Given the description of an element on the screen output the (x, y) to click on. 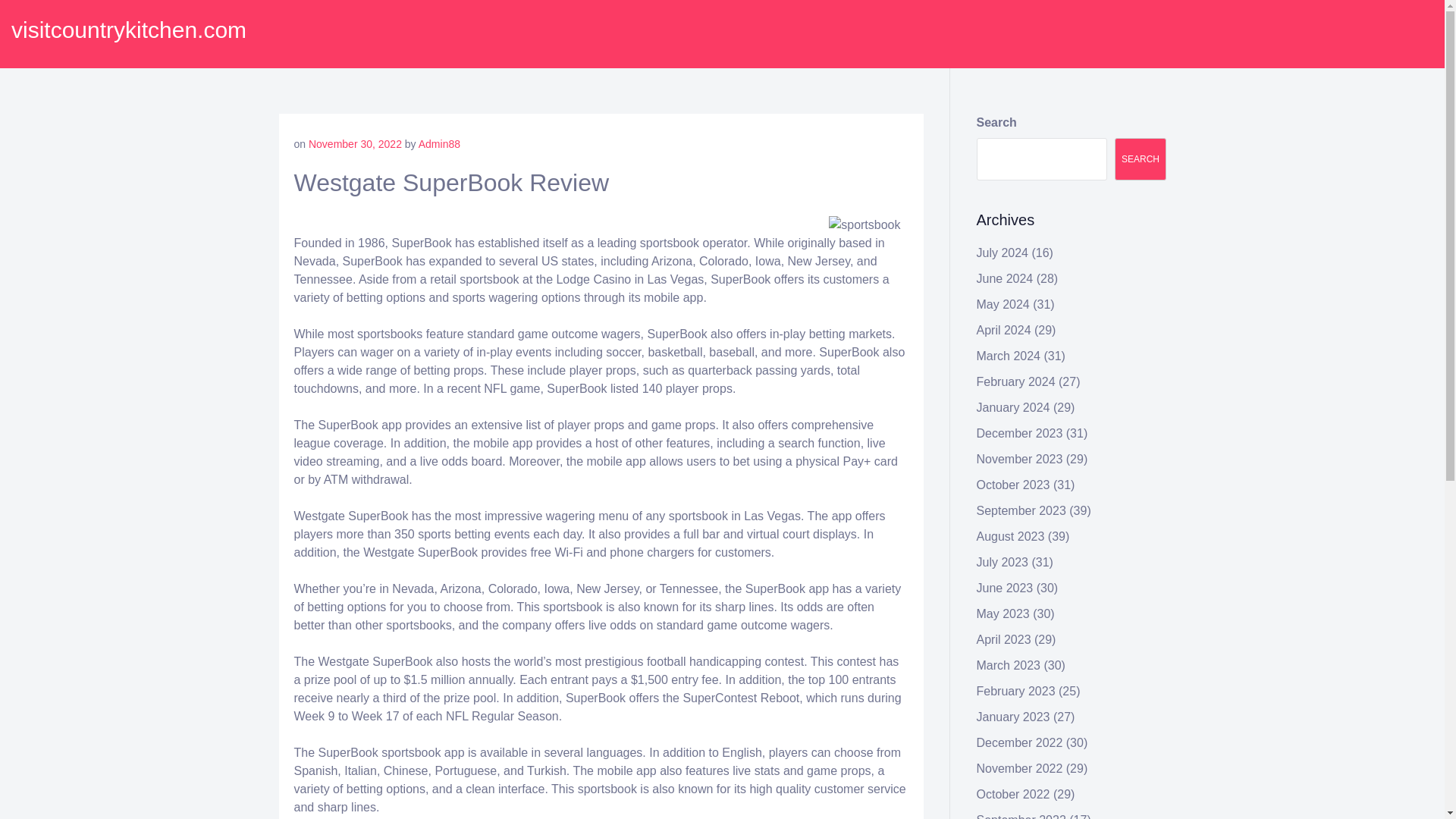
June 2024 (1004, 278)
November 2023 (1019, 459)
November 30, 2022 (354, 143)
October 2023 (1012, 484)
August 2023 (1010, 535)
March 2023 (1008, 665)
May 2023 (1002, 613)
September 2023 (1020, 510)
December 2023 (1019, 432)
July 2023 (1002, 562)
February 2024 (1015, 381)
January 2024 (1012, 407)
December 2022 (1019, 742)
March 2024 (1008, 355)
February 2023 (1015, 690)
